Given the description of an element on the screen output the (x, y) to click on. 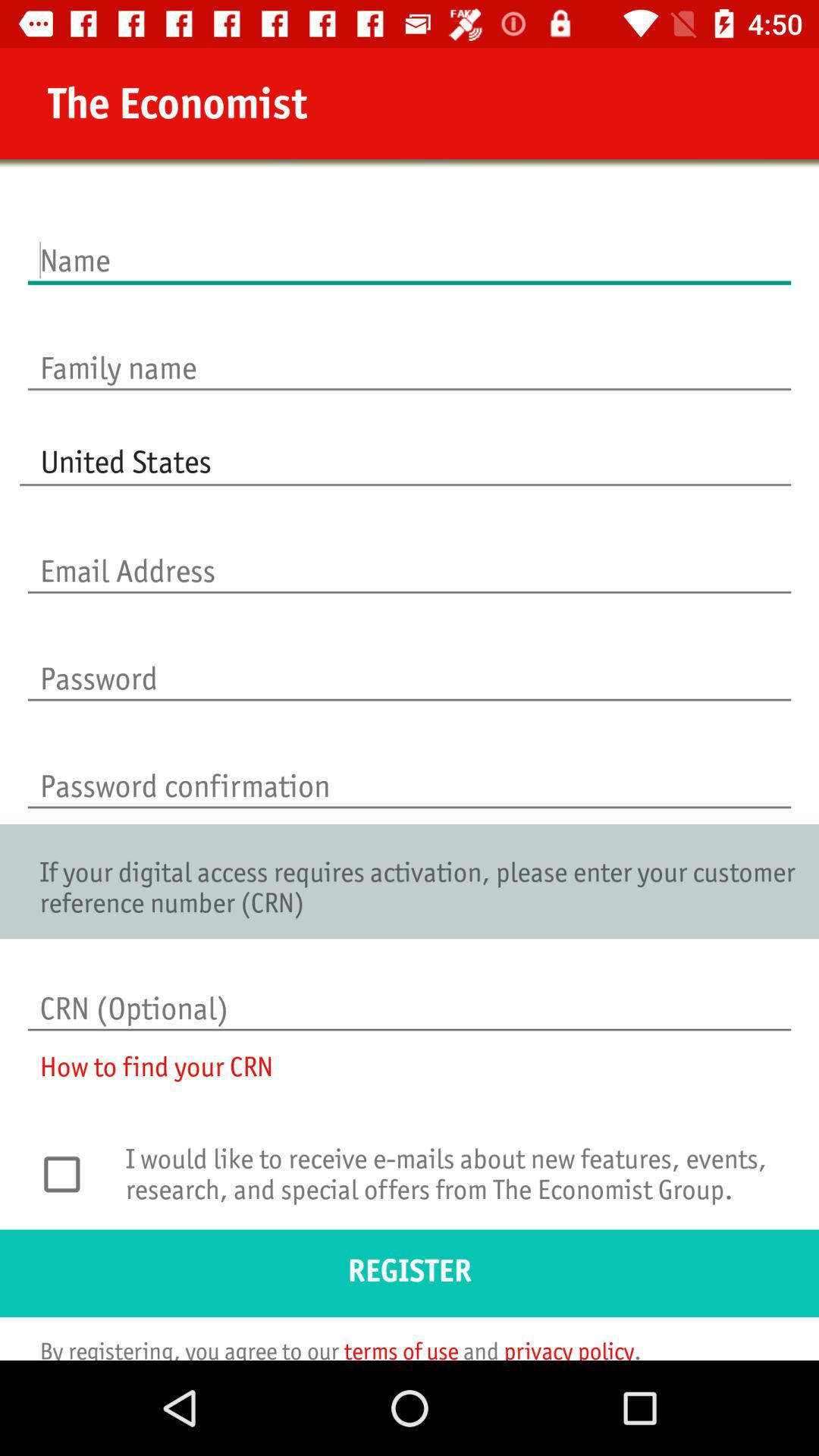
enter crn (409, 992)
